Given the description of an element on the screen output the (x, y) to click on. 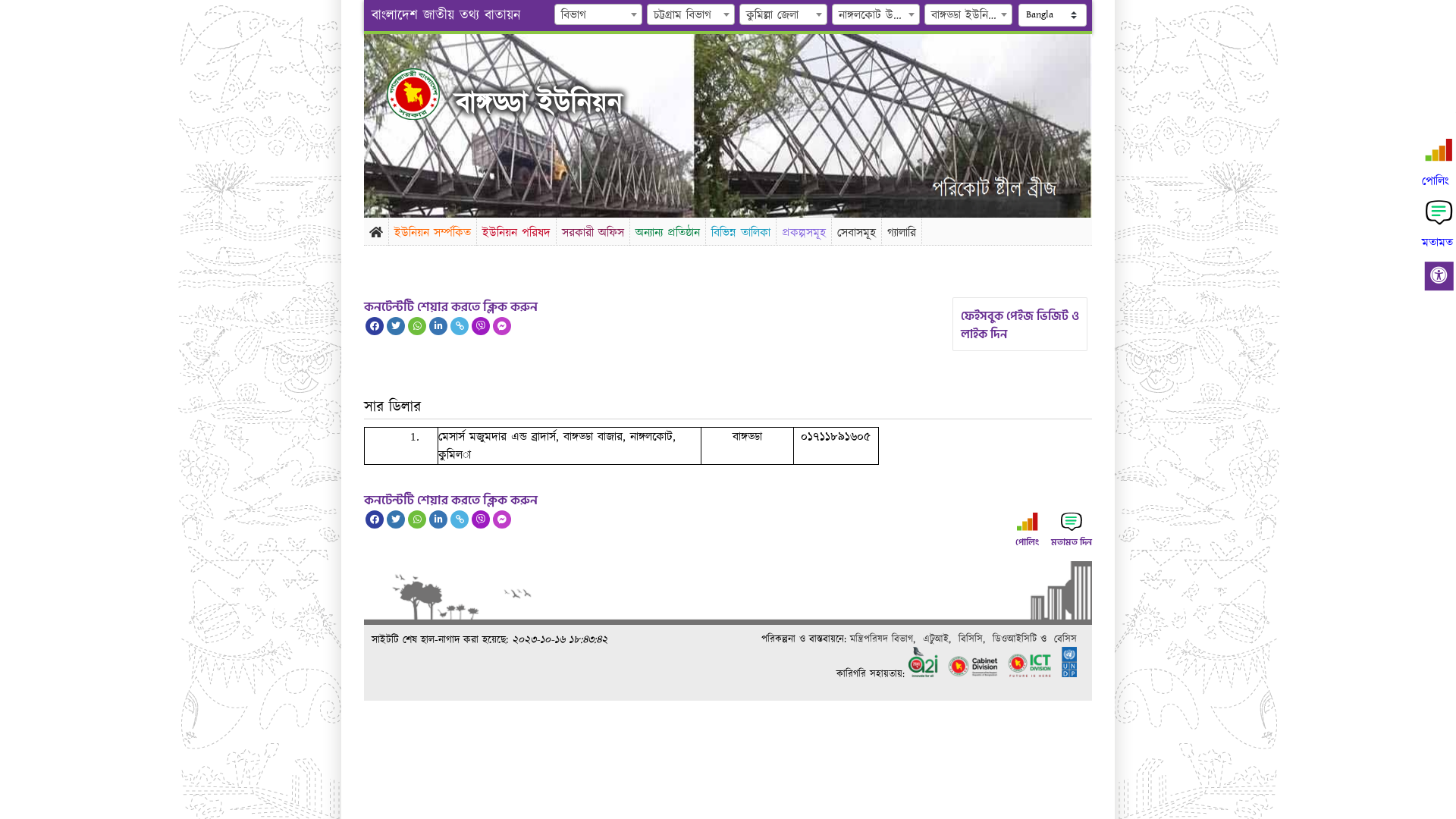

                
             Element type: hover (426, 93)
